Given the description of an element on the screen output the (x, y) to click on. 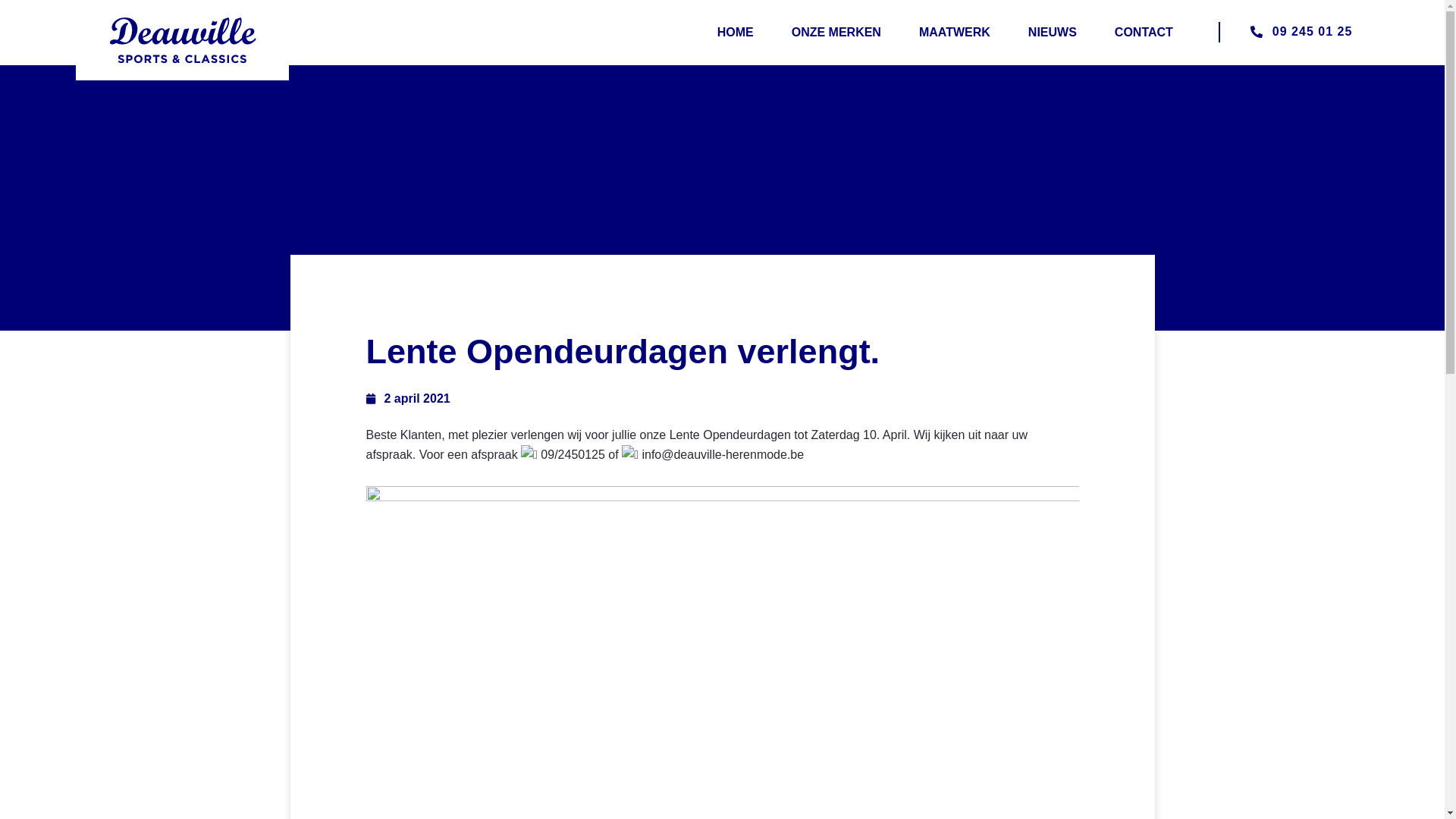
NIEUWS Element type: text (1052, 32)
CONTACT Element type: text (1143, 32)
09 245 01 25 Element type: text (1285, 31)
2 april 2021 Element type: text (407, 398)
MAATWERK Element type: text (954, 32)
ONZE MERKEN Element type: text (836, 32)
HOME Element type: text (735, 32)
